Given the description of an element on the screen output the (x, y) to click on. 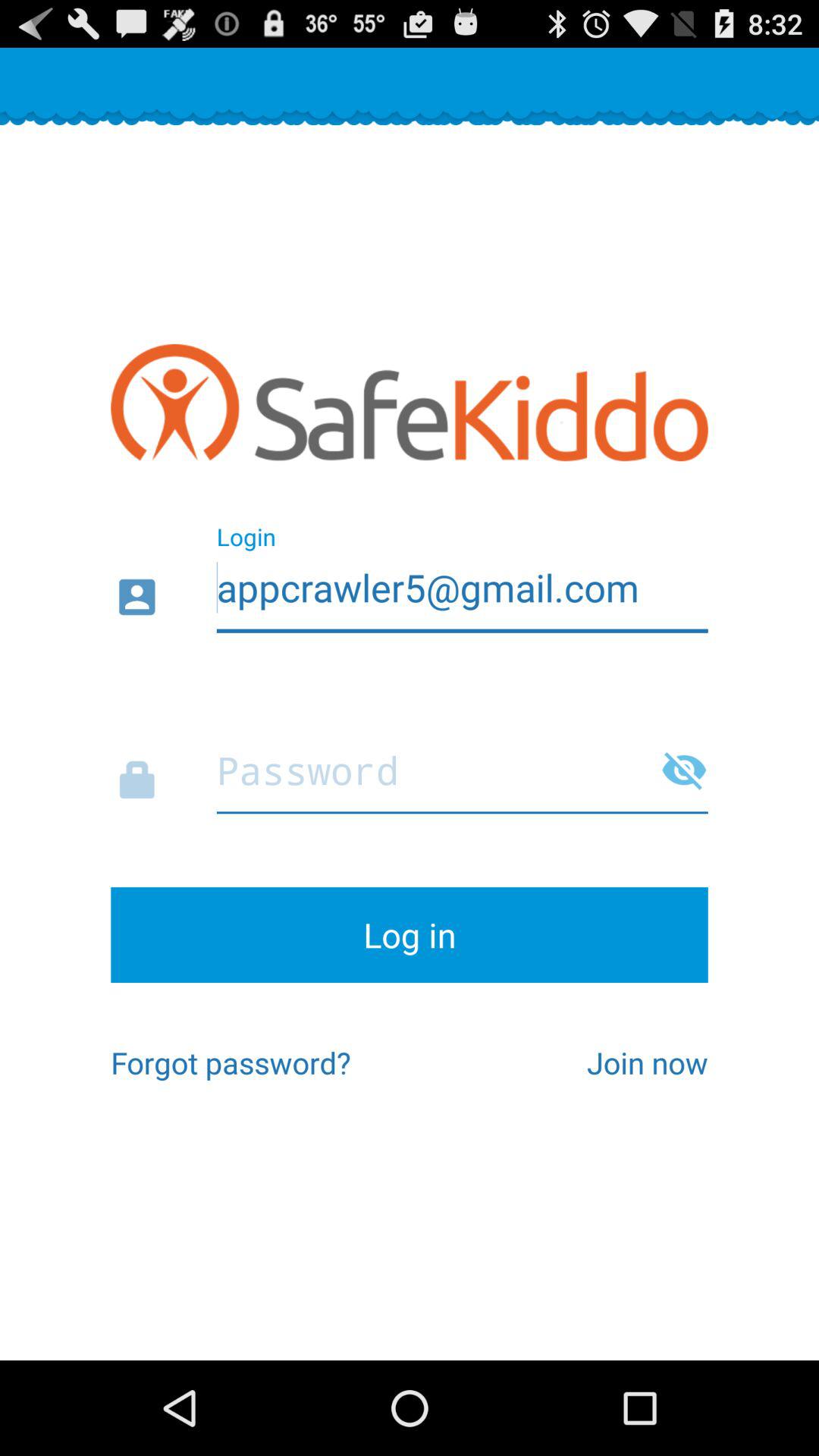
to type password (409, 765)
